Given the description of an element on the screen output the (x, y) to click on. 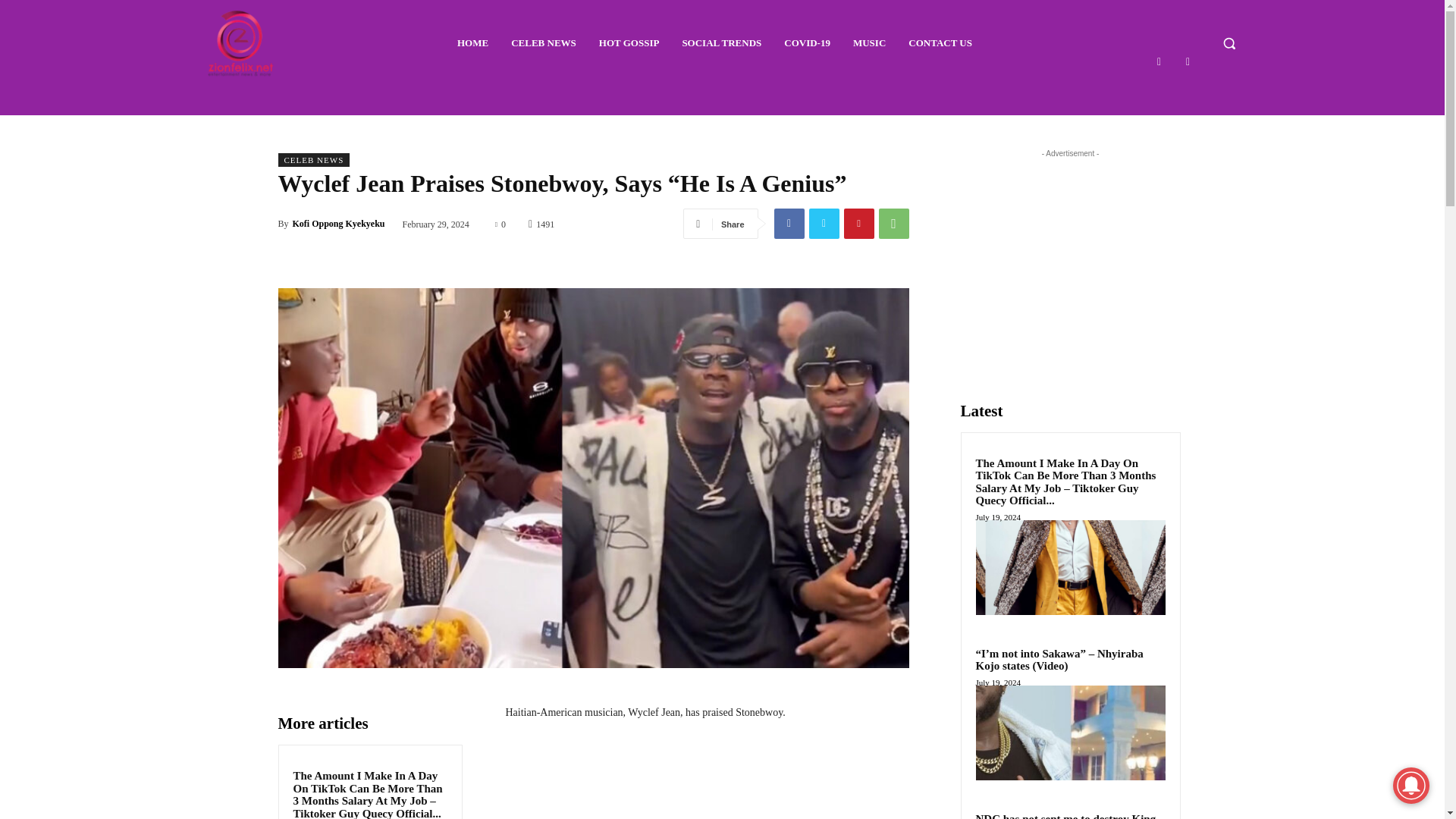
0 (500, 223)
CELEB NEWS (313, 160)
Kofi Oppong Kyekyeku (338, 223)
HOME (472, 42)
Facebook (1158, 61)
CELEB NEWS (543, 42)
COVID-19 (807, 42)
HOT GOSSIP (628, 42)
MUSIC (869, 42)
SOCIAL TRENDS (721, 42)
Instagram (1187, 61)
Facebook (788, 223)
Pinterest (858, 223)
WhatsApp (892, 223)
